Given the description of an element on the screen output the (x, y) to click on. 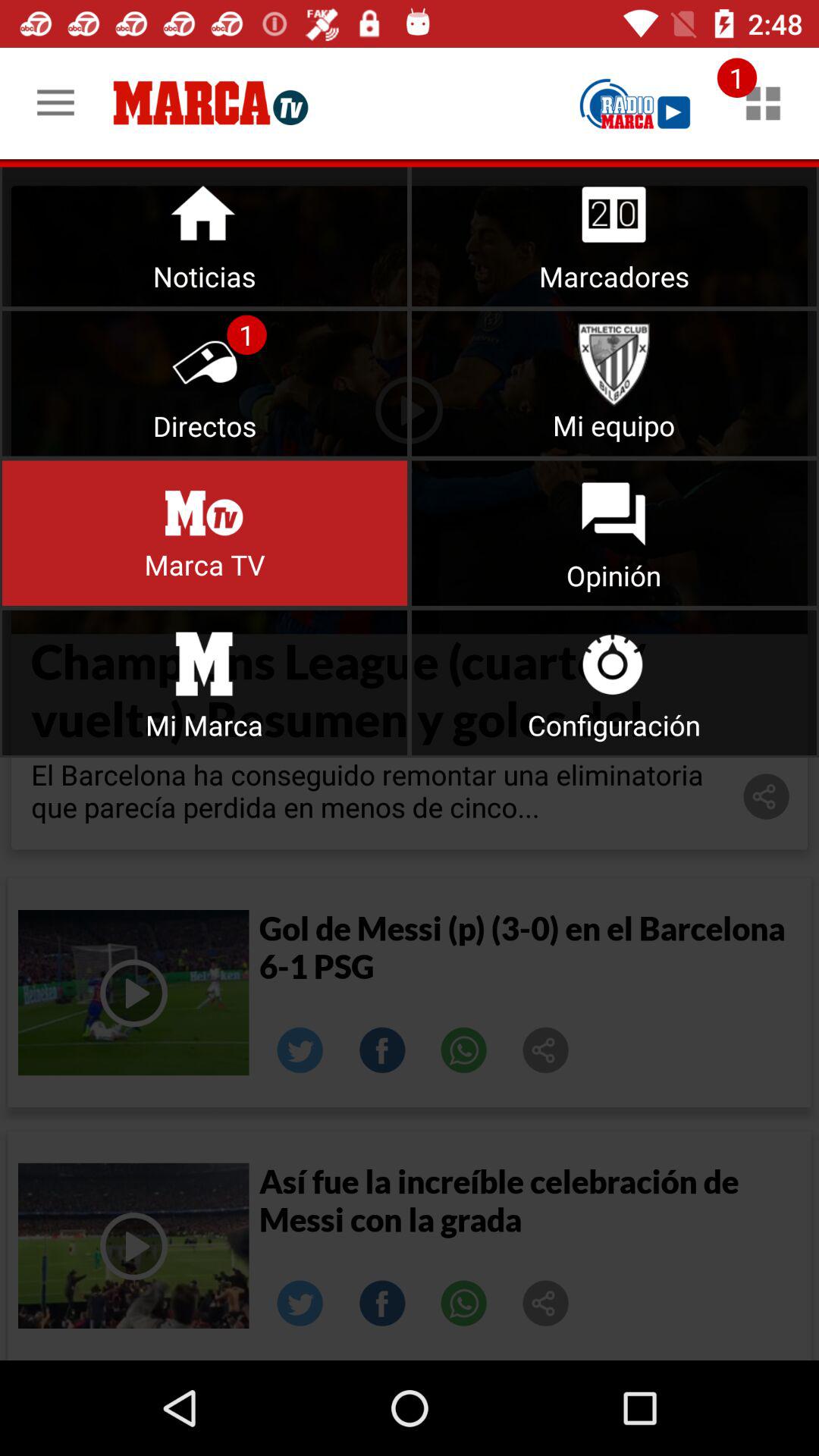
switch autoplay option (204, 532)
